Given the description of an element on the screen output the (x, y) to click on. 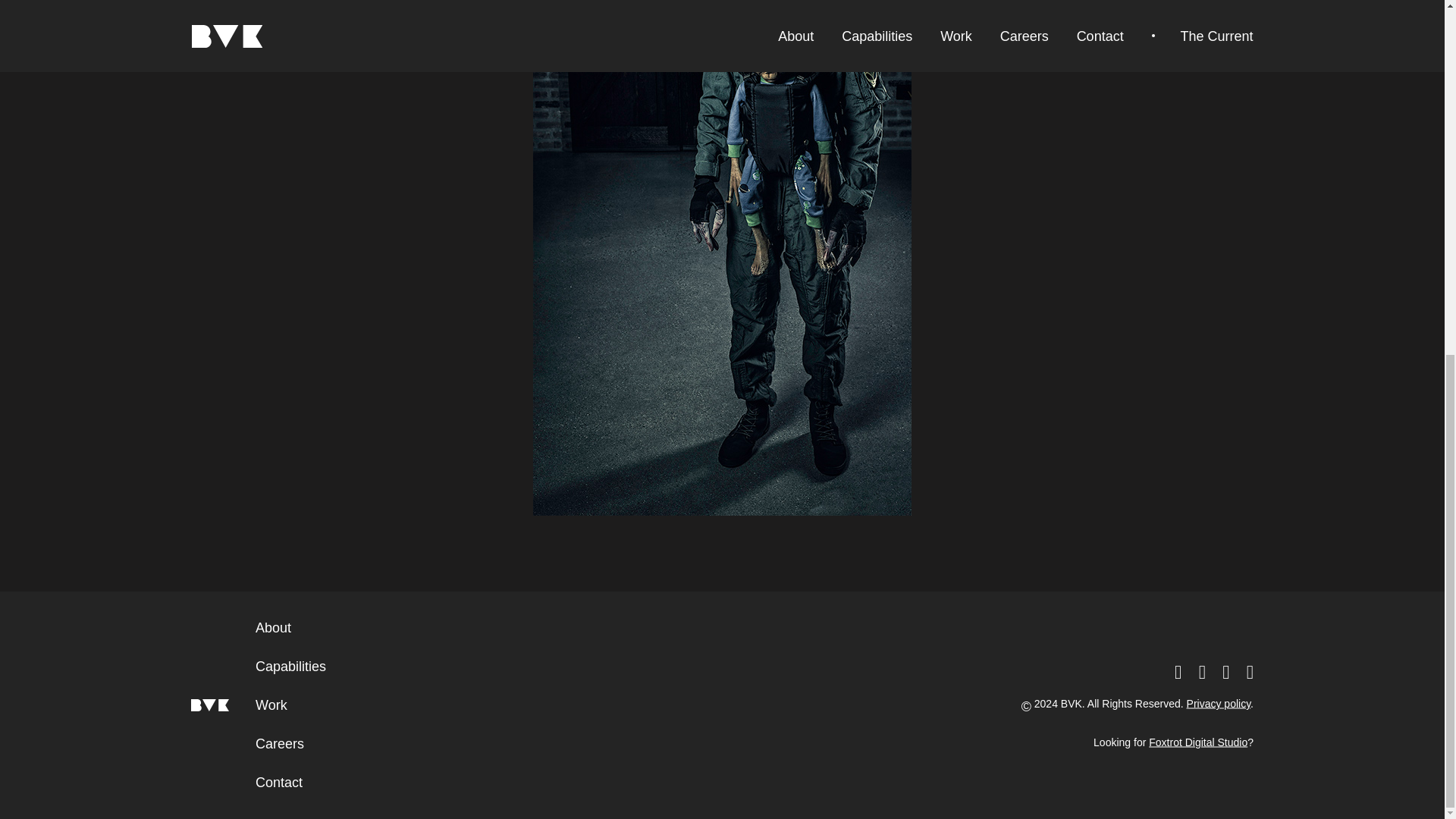
Capabilities (291, 666)
Careers (280, 743)
Contact (279, 782)
About (273, 627)
Work (271, 704)
Privacy policy (1218, 703)
Foxtrot Digital Studio (1197, 741)
